Given the description of an element on the screen output the (x, y) to click on. 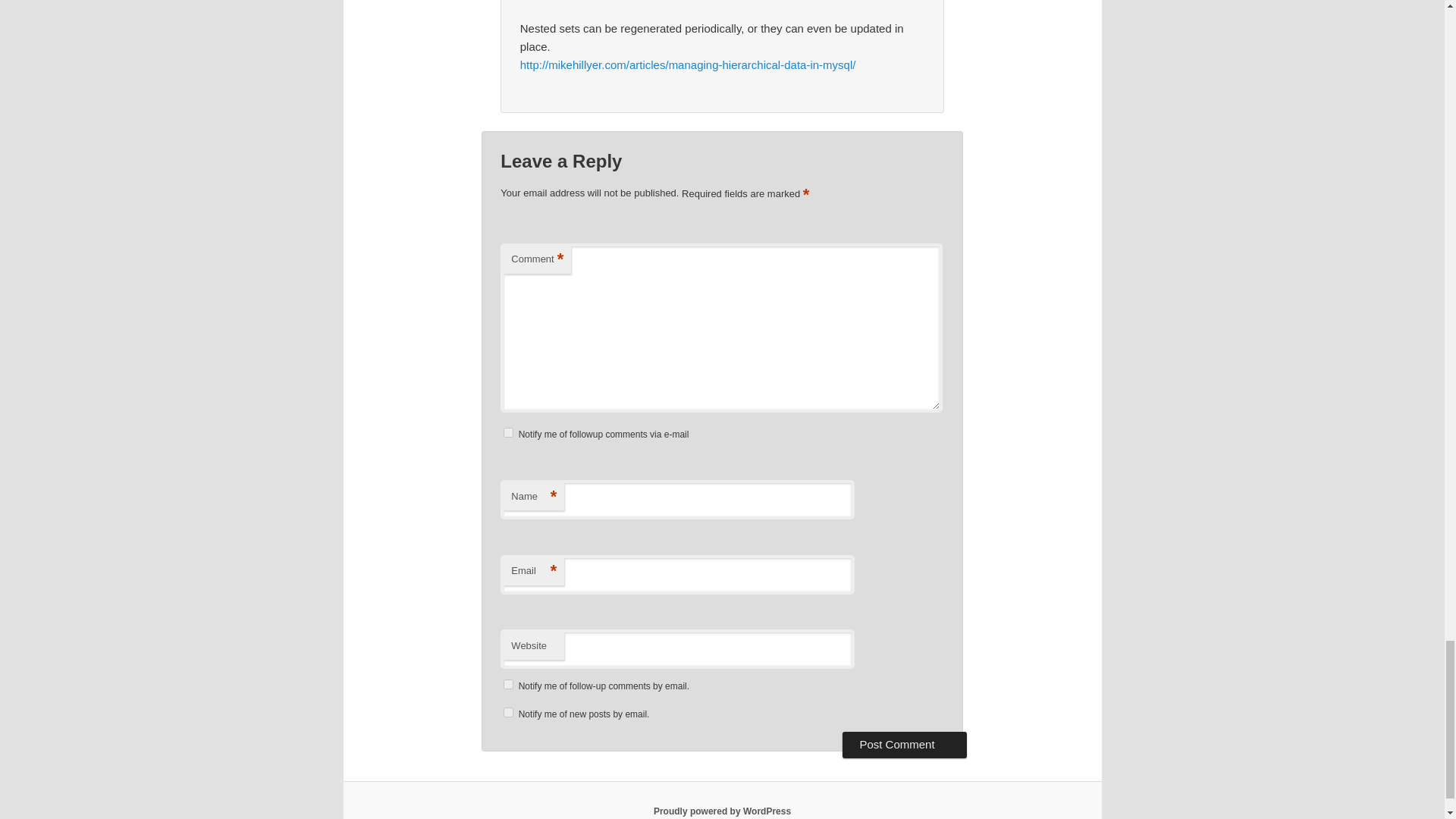
Post Comment (904, 744)
subscribe (508, 684)
subscribe (508, 432)
Semantic Personal Publishing Platform (721, 810)
subscribe (508, 712)
